Given the description of an element on the screen output the (x, y) to click on. 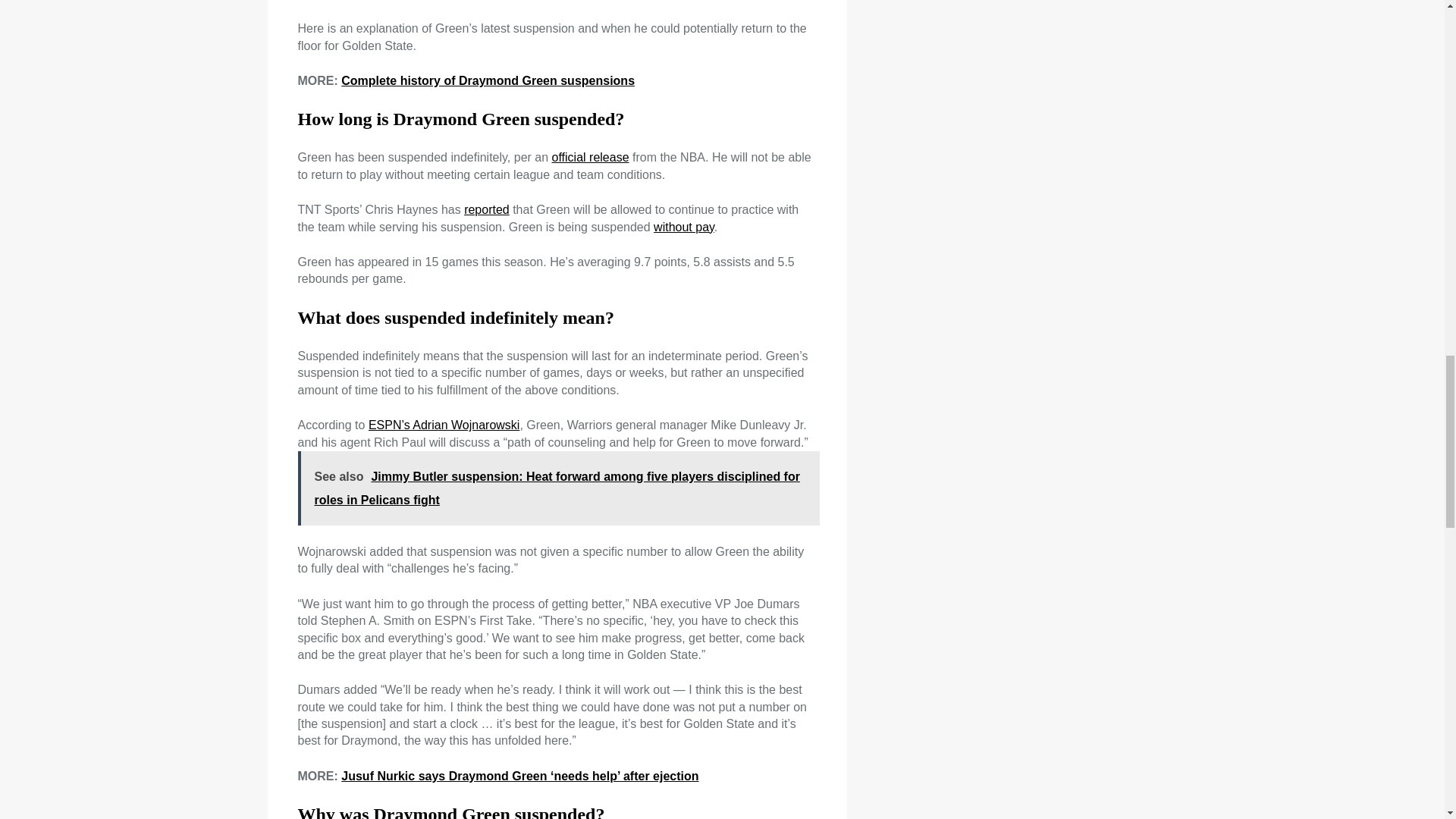
reported (486, 209)
Complete history of Draymond Green suspensions (487, 80)
official release (589, 156)
without pay (683, 226)
